Given the description of an element on the screen output the (x, y) to click on. 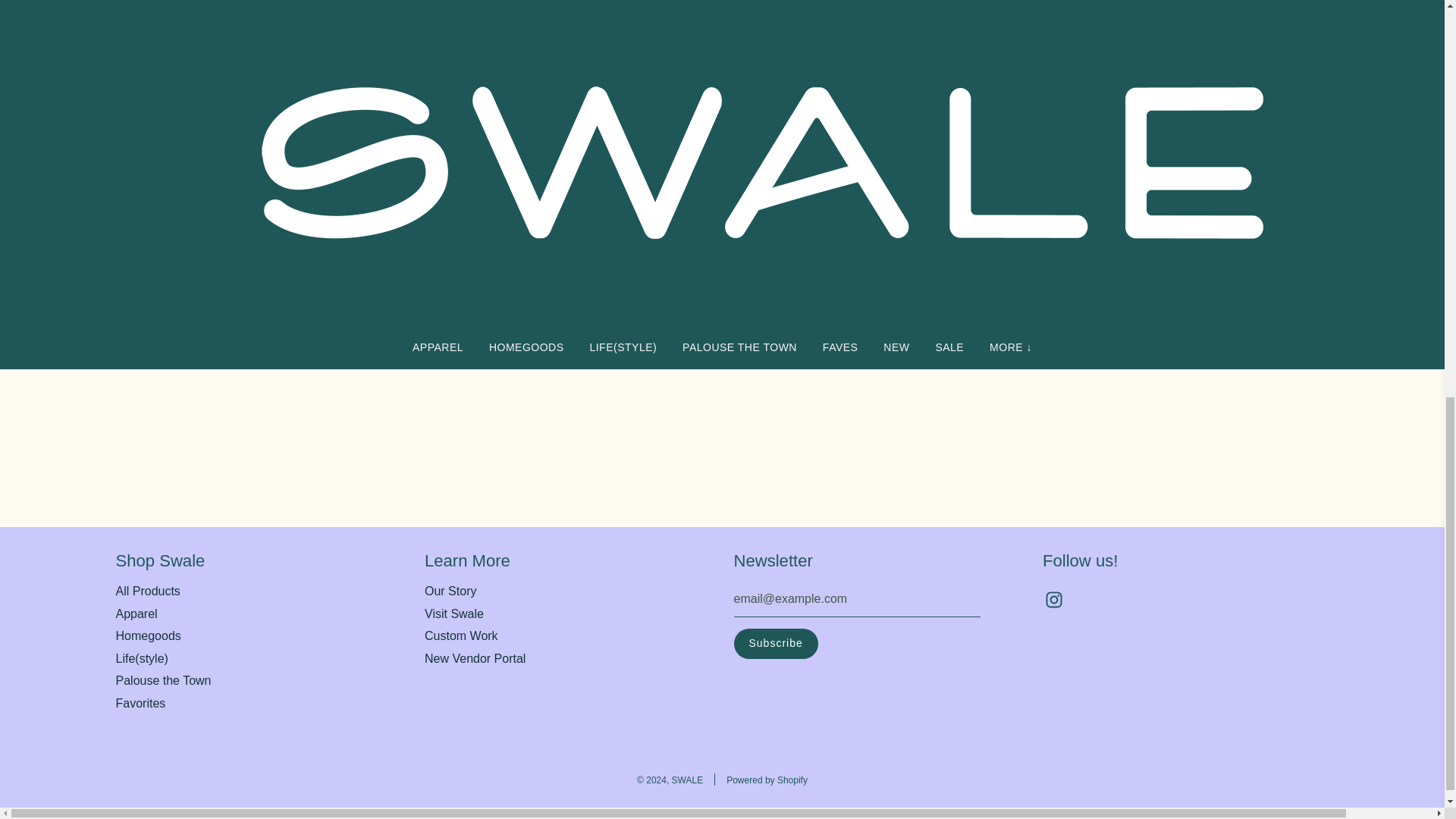
Subscribe (775, 643)
